Given the description of an element on the screen output the (x, y) to click on. 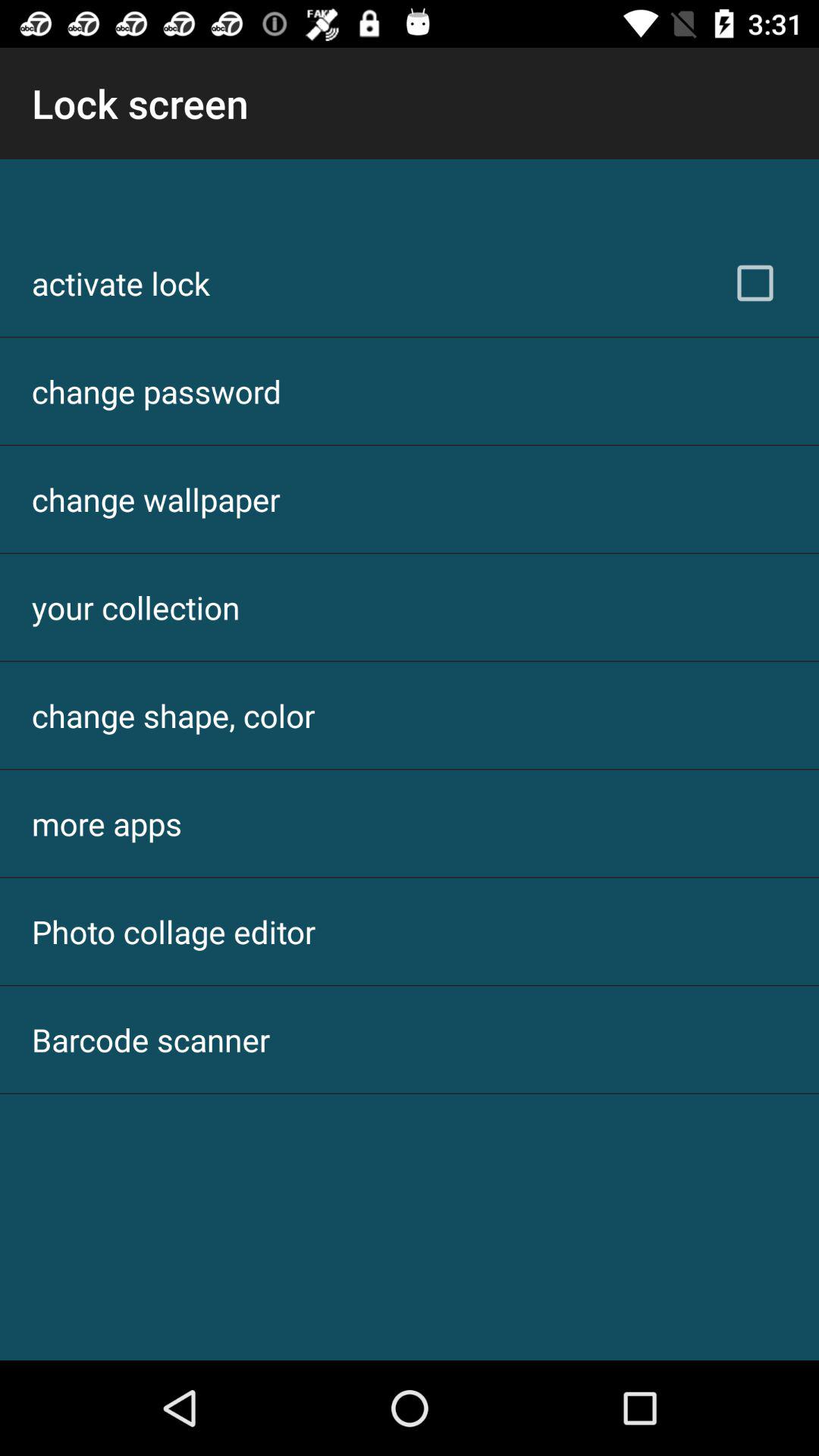
launch the photo collage editor icon (173, 931)
